Given the description of an element on the screen output the (x, y) to click on. 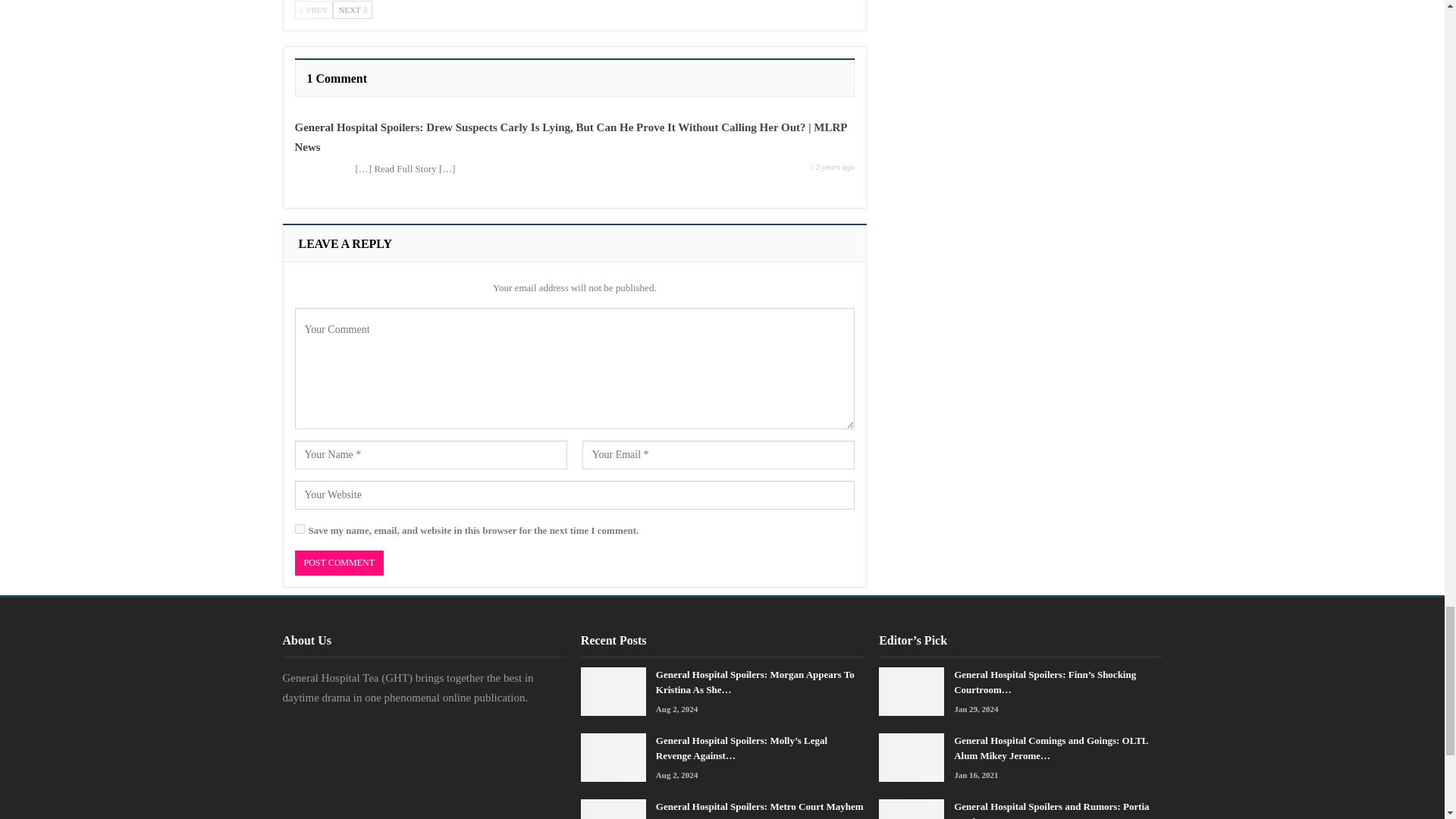
Previous (313, 9)
Post Comment (338, 562)
Next (352, 9)
Friday, December 23, 2022, 10:15 pm (832, 165)
yes (299, 528)
